Given the description of an element on the screen output the (x, y) to click on. 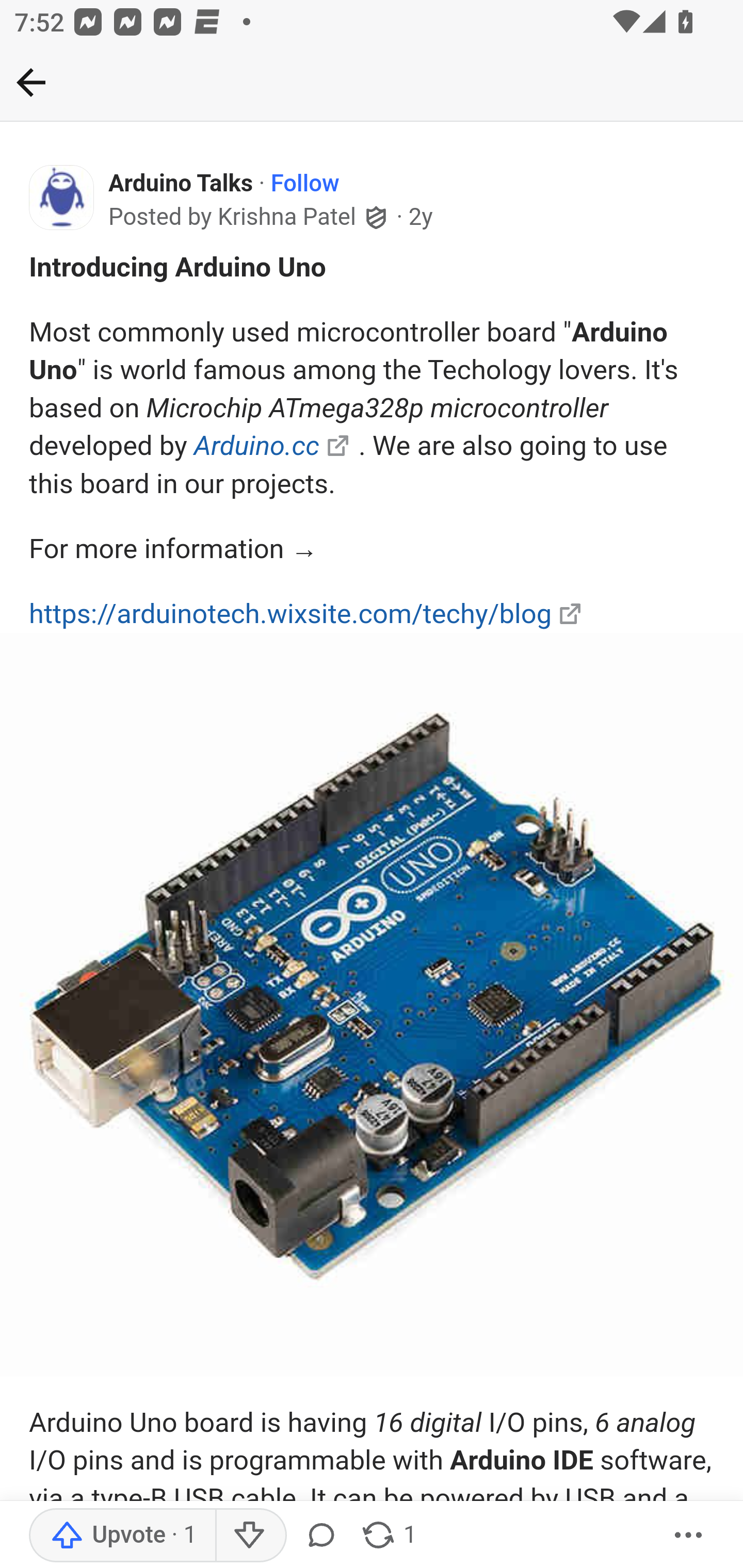
Back (371, 82)
Back (30, 82)
Icon for Arduino Talks (61, 198)
Arduino Talks (181, 183)
Follow (304, 183)
Krishna Patel (286, 217)
2y 2 y (420, 217)
Arduino.cc (256, 445)
https://arduinotech.wixsite.com/techy/blog (290, 612)
Upvote (122, 1535)
Downvote (249, 1535)
Comment (324, 1535)
1 share (387, 1535)
More (688, 1535)
